Given the description of an element on the screen output the (x, y) to click on. 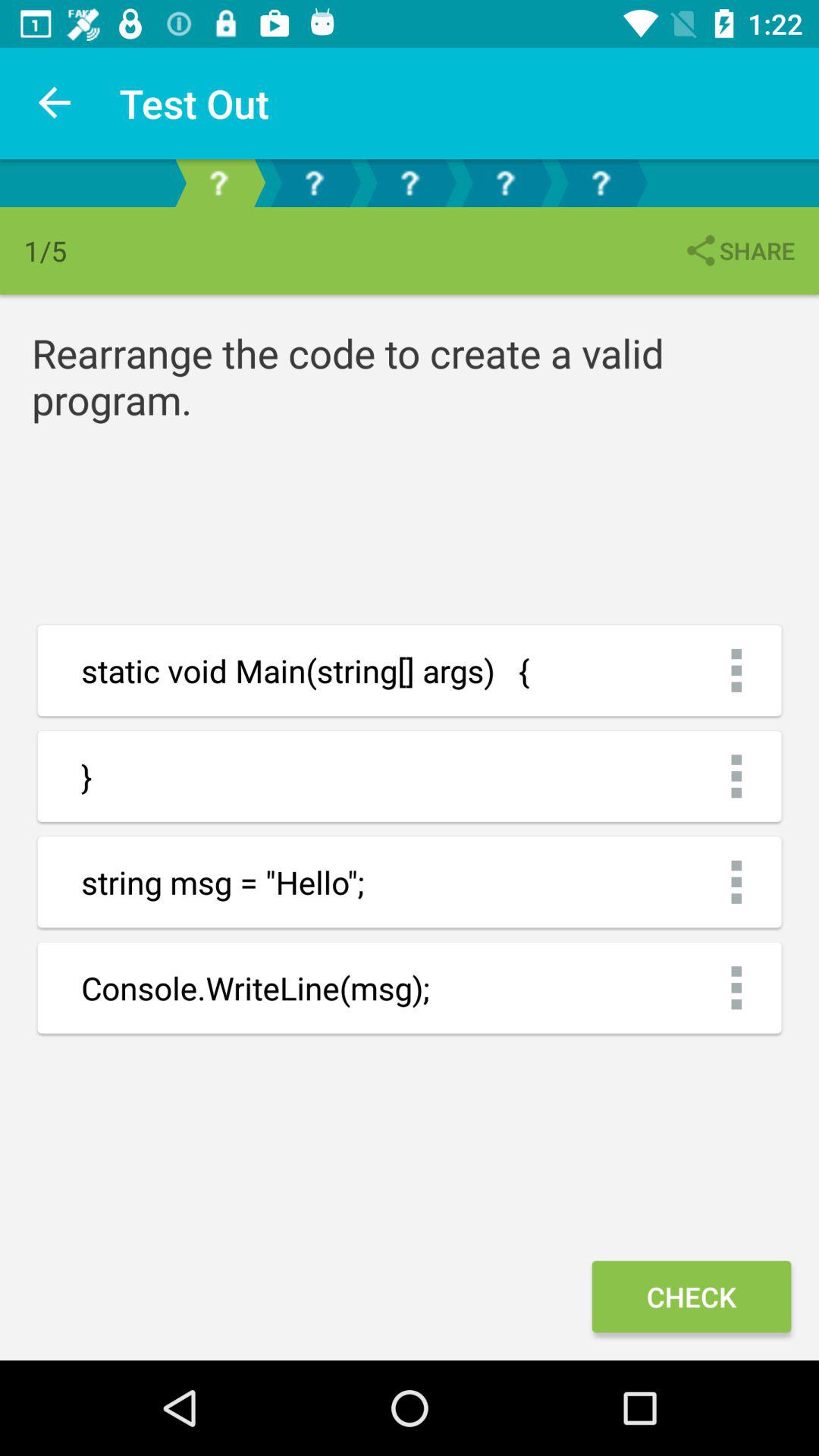
click icon above the rearrange the code (738, 250)
